Given the description of an element on the screen output the (x, y) to click on. 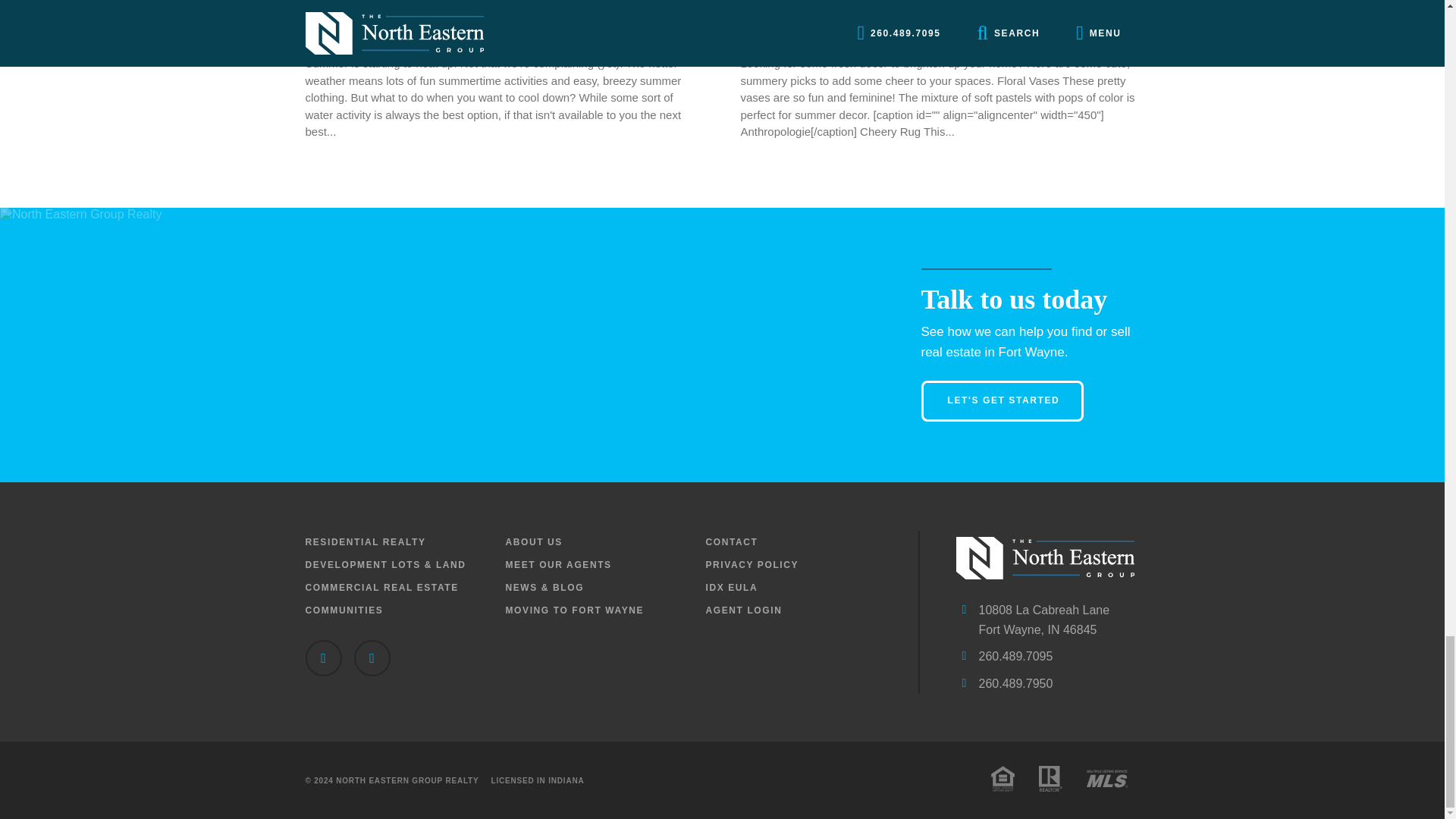
LinkedIn (371, 657)
Facebook (322, 657)
Multiple Listing Service (1106, 778)
North Eastern Group Realty (1044, 559)
